Given the description of an element on the screen output the (x, y) to click on. 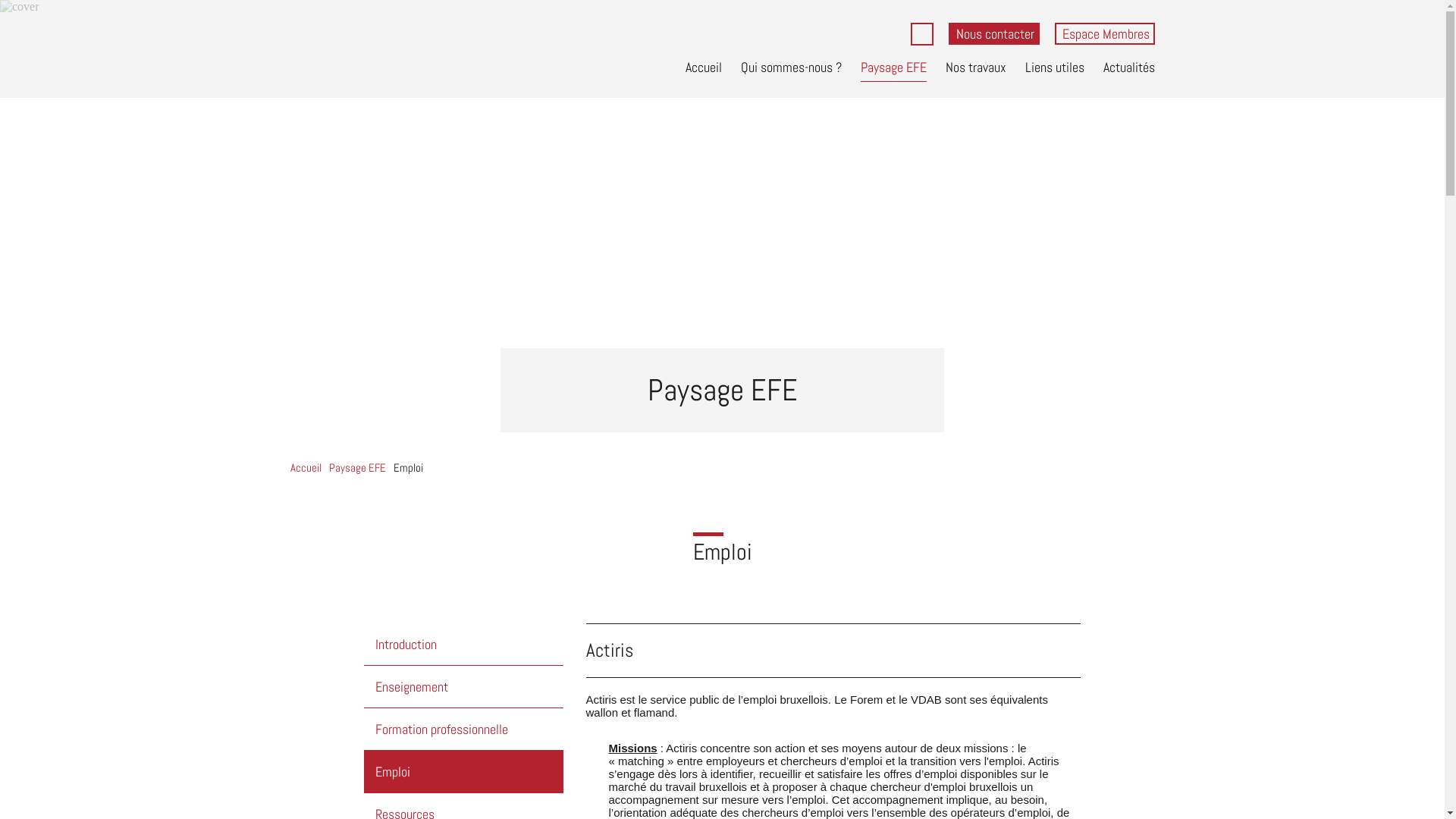
Rechercher Element type: text (969, 43)
Formation professionnelle Element type: text (463, 729)
Paysage EFE Element type: text (357, 467)
Espace Membres Element type: text (1104, 33)
Nous contacter Element type: text (992, 33)
Emploi Element type: text (463, 771)
Nos travaux Element type: text (974, 62)
Enseignement Element type: text (463, 686)
Accueil Element type: text (703, 62)
Qui sommes-nous ? Element type: text (790, 62)
Liens utiles Element type: text (1054, 62)
Accueil Element type: text (304, 467)
Actiris Element type: text (608, 606)
Emploi Element type: text (407, 467)
Aller au contenu principal Element type: text (63, 0)
Introduction Element type: text (463, 644)
Paysage EFE Element type: text (892, 62)
